Given the description of an element on the screen output the (x, y) to click on. 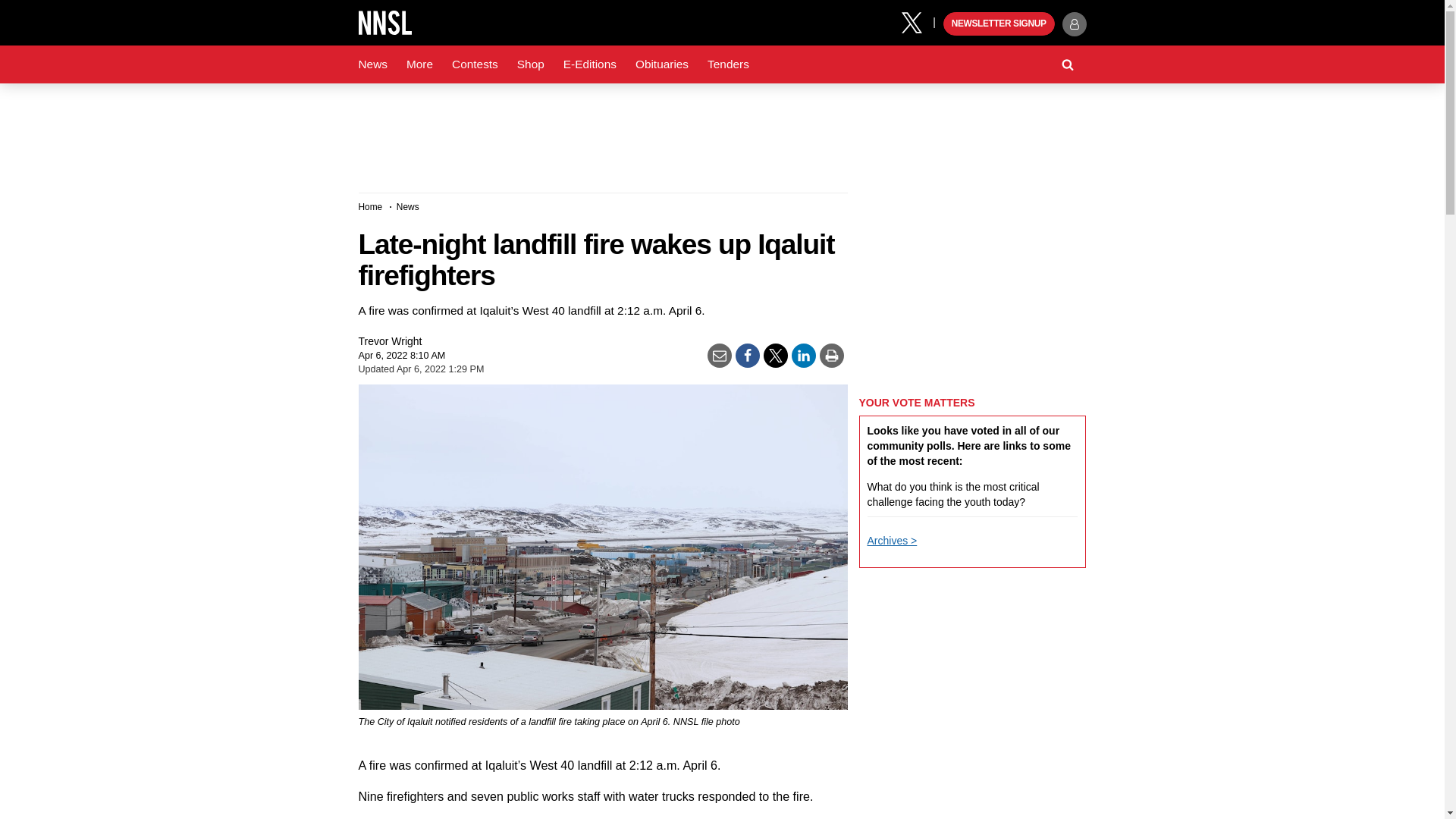
Tenders (728, 64)
NEWSLETTER SIGNUP (998, 24)
E-Editions (590, 64)
X (917, 21)
3rd party ad content (721, 131)
Obituaries (661, 64)
